Given the description of an element on the screen output the (x, y) to click on. 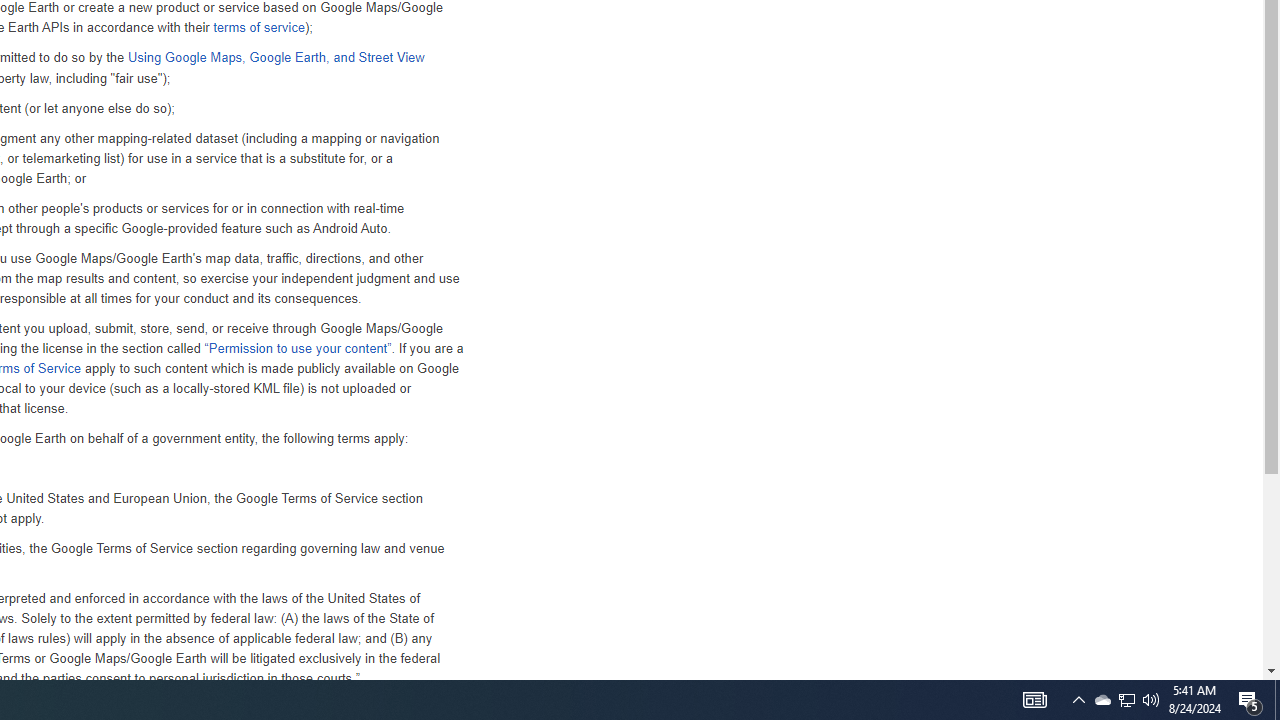
Using Google Maps, Google Earth, and Street View (275, 57)
terms of service (258, 28)
